Given the description of an element on the screen output the (x, y) to click on. 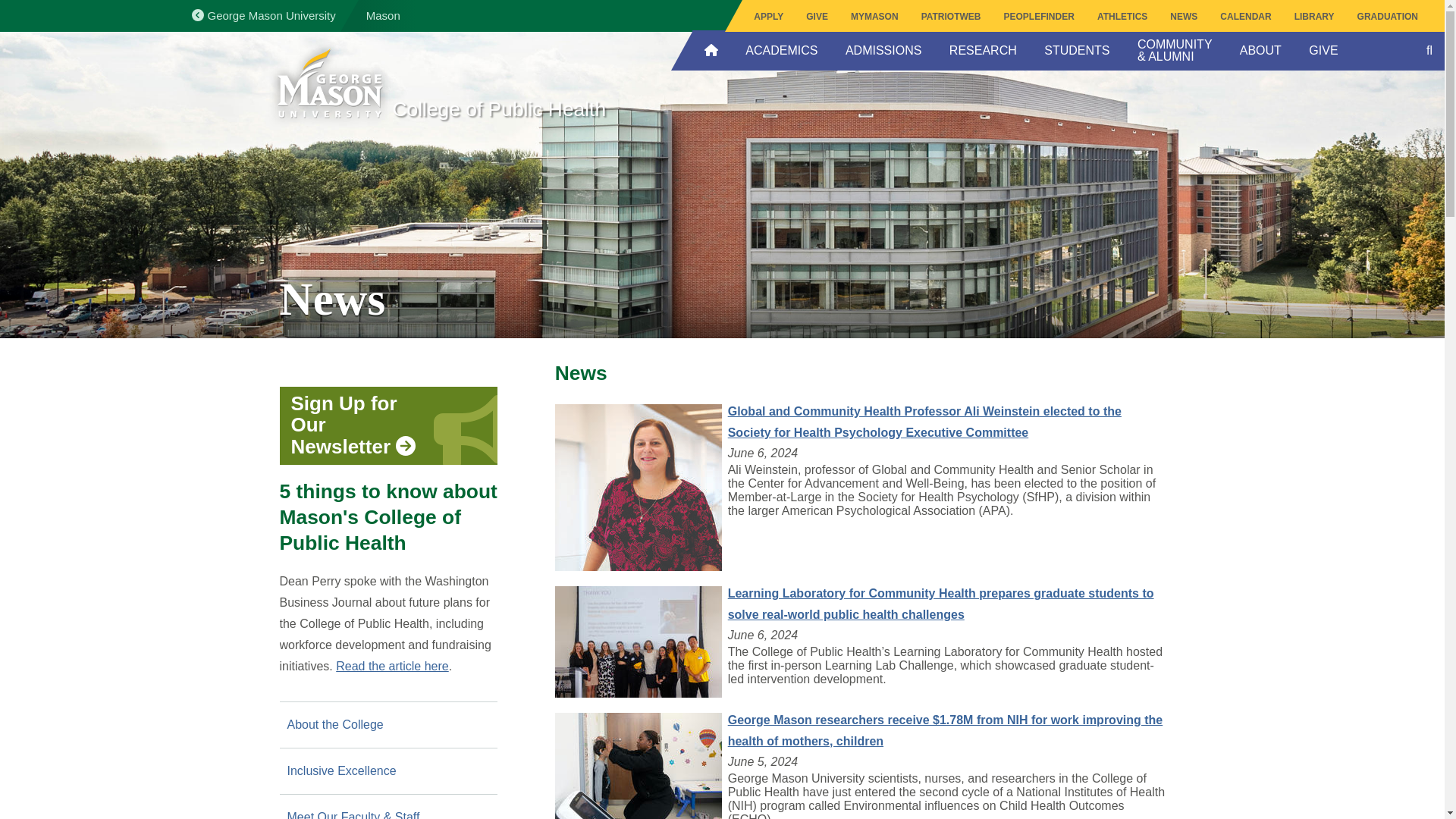
MYMASON (875, 16)
LIBRARY (1313, 16)
PEOPLEFINDER (1039, 16)
George Mason University (386, 15)
GRADUATION (1387, 16)
PATRIOTWEB (951, 16)
GIVE (817, 16)
ACADEMICS (781, 50)
George Mason University (262, 15)
ADMISSIONS (882, 50)
ATHLETICS (1122, 16)
Home (546, 118)
Home (328, 84)
CALENDAR (1245, 16)
